Given the description of an element on the screen output the (x, y) to click on. 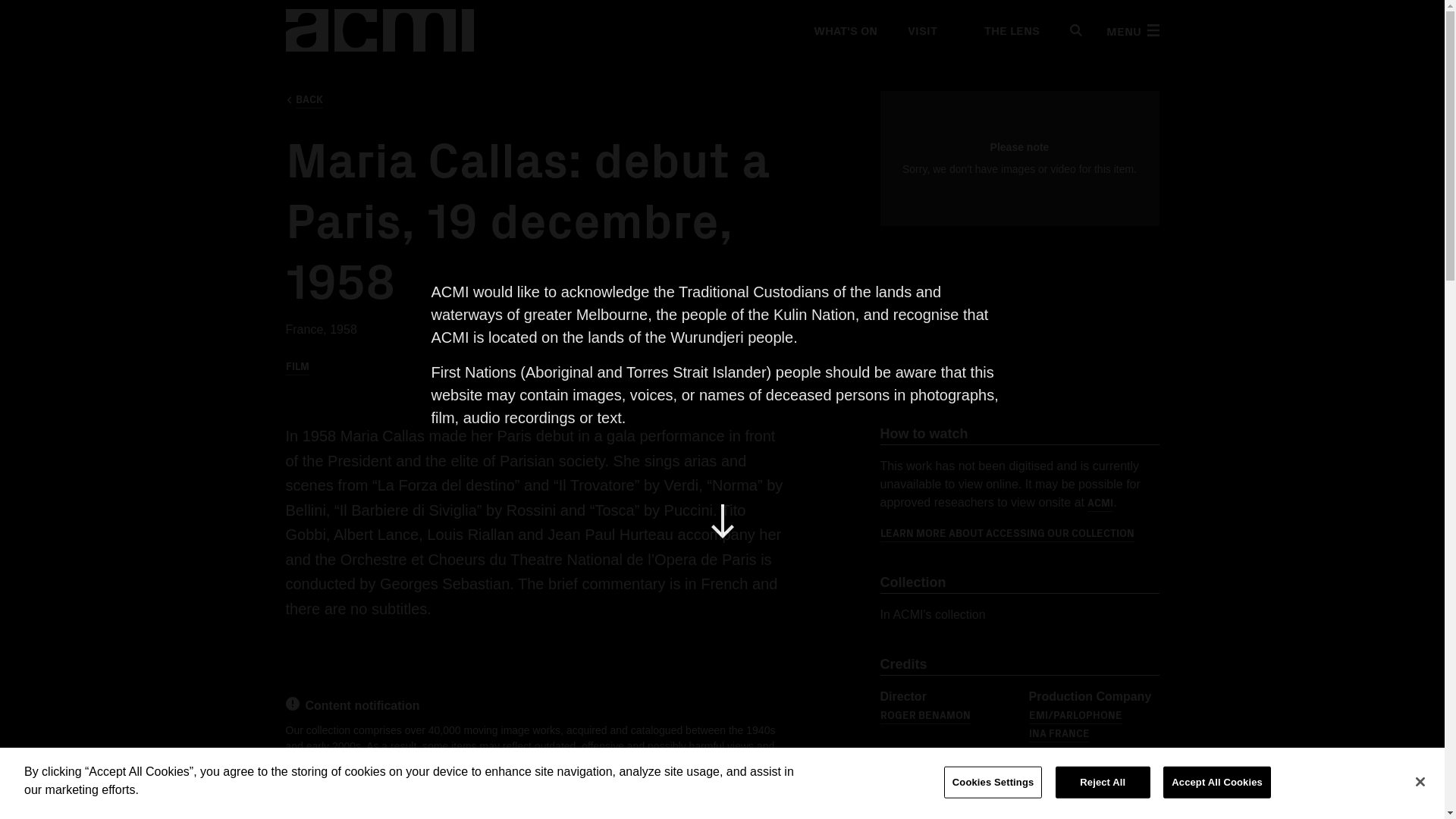
VISIT (921, 30)
MENU (1131, 29)
WHAT'S ON (844, 30)
THE LENS (1003, 30)
